Given the description of an element on the screen output the (x, y) to click on. 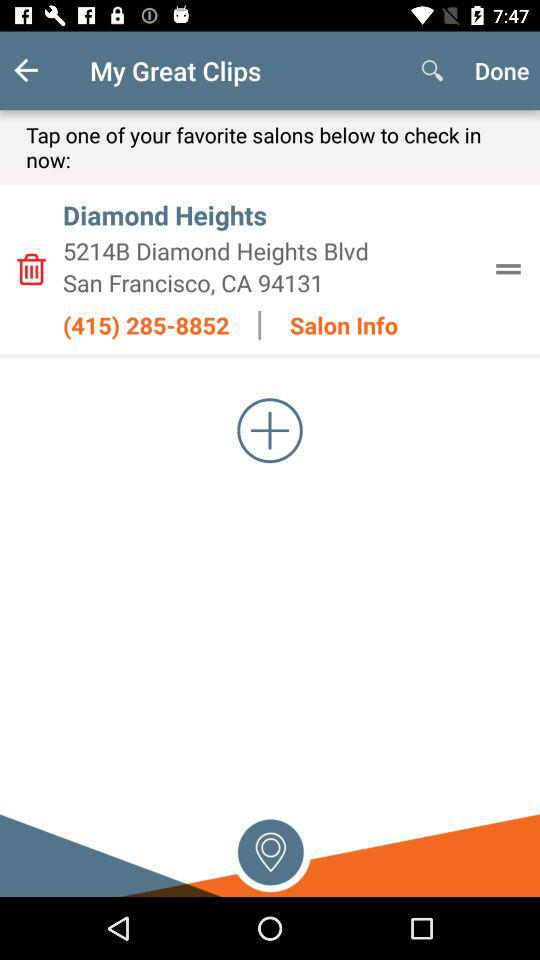
press the 5214b diamond heights item (269, 250)
